Given the description of an element on the screen output the (x, y) to click on. 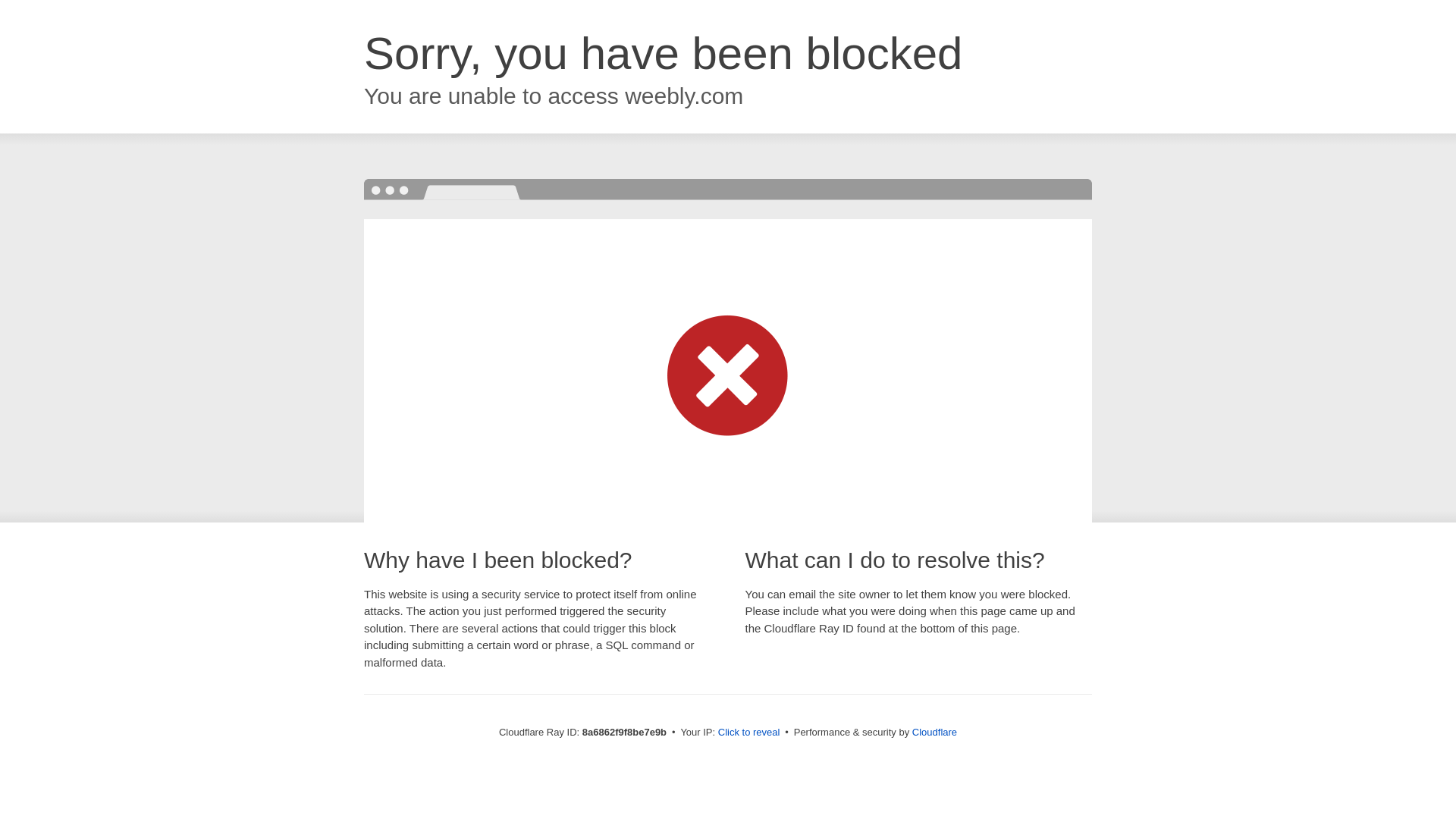
Cloudflare (934, 731)
Click to reveal (748, 732)
